Given the description of an element on the screen output the (x, y) to click on. 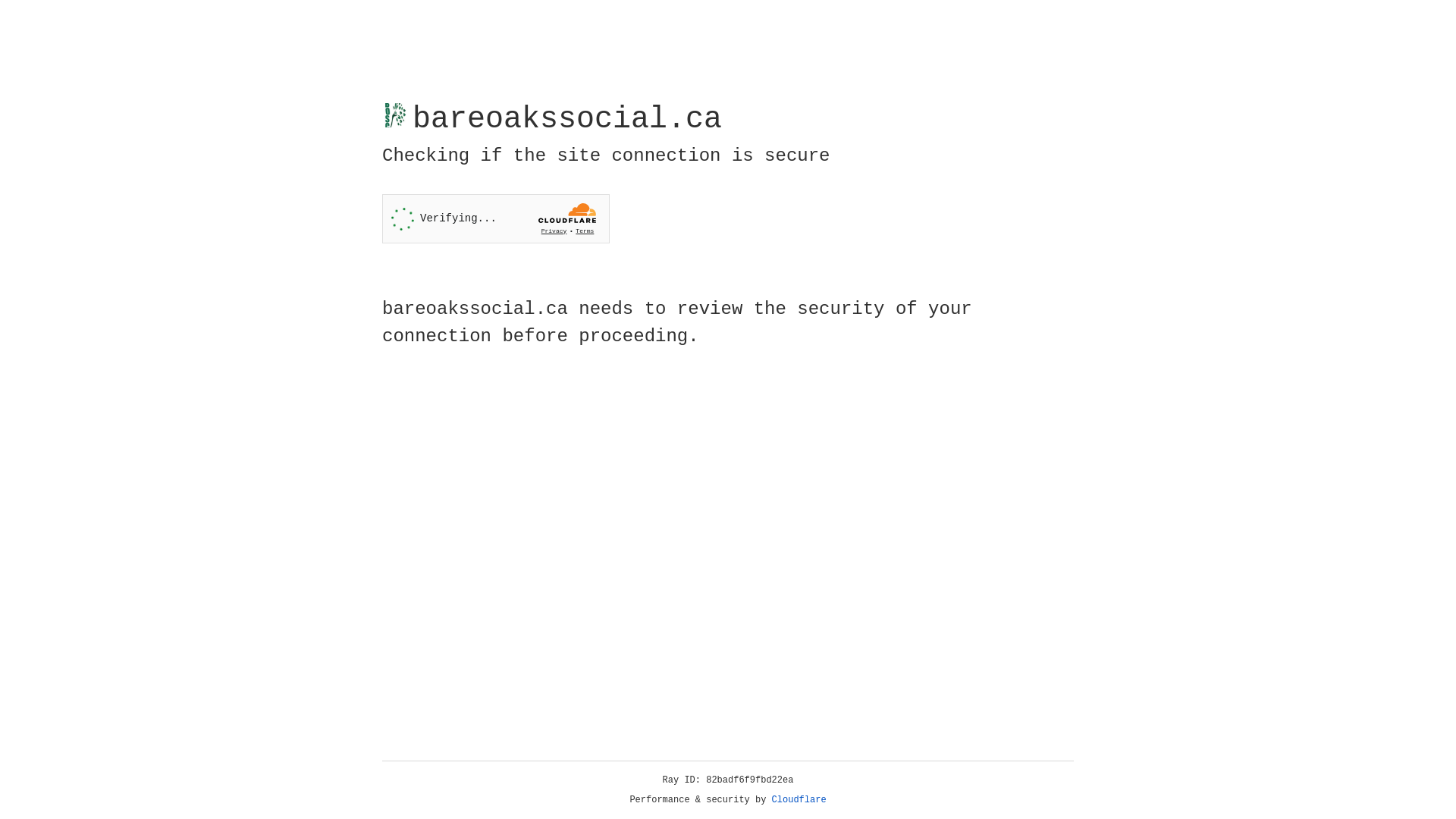
Cloudflare Element type: text (798, 799)
Widget containing a Cloudflare security challenge Element type: hover (495, 218)
